Given the description of an element on the screen output the (x, y) to click on. 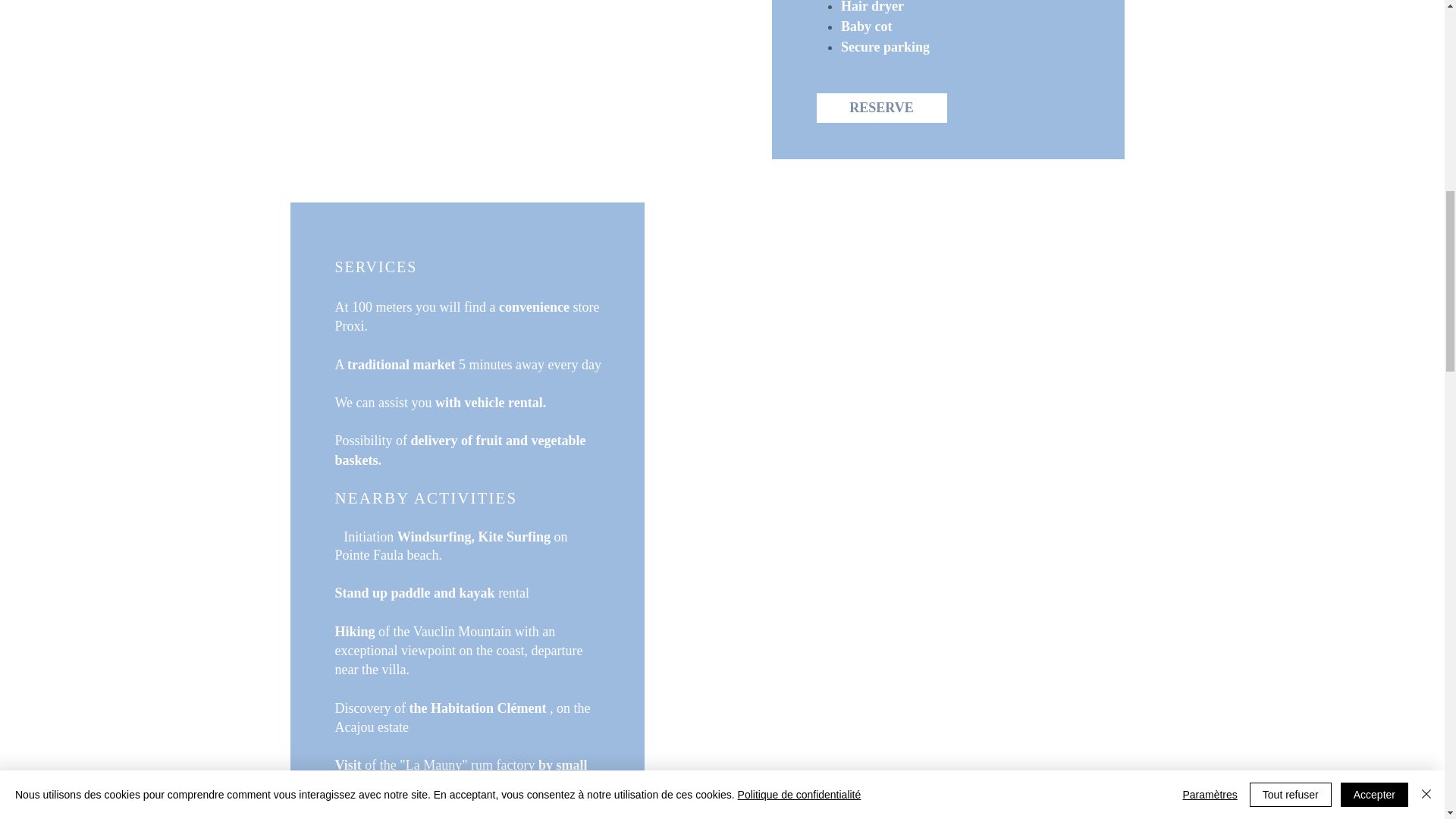
RESERVE (880, 107)
